Given the description of an element on the screen output the (x, y) to click on. 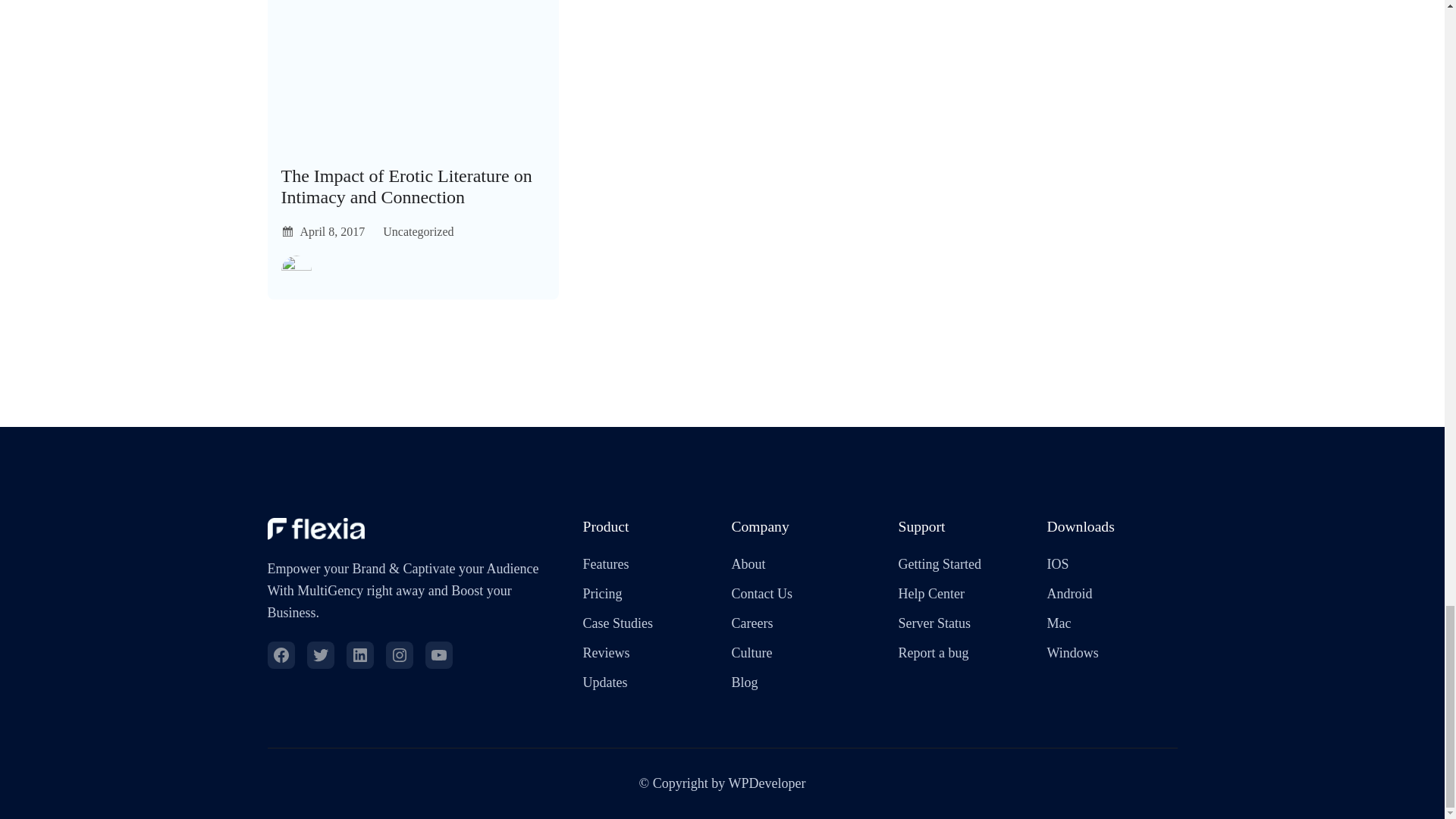
Updates (604, 682)
fb (280, 655)
Blog (743, 682)
Twitter (319, 655)
Uncategorized (417, 231)
Contact Us (761, 594)
YouTube (438, 655)
Getting Started (938, 564)
Features (605, 564)
About (747, 564)
